Given the description of an element on the screen output the (x, y) to click on. 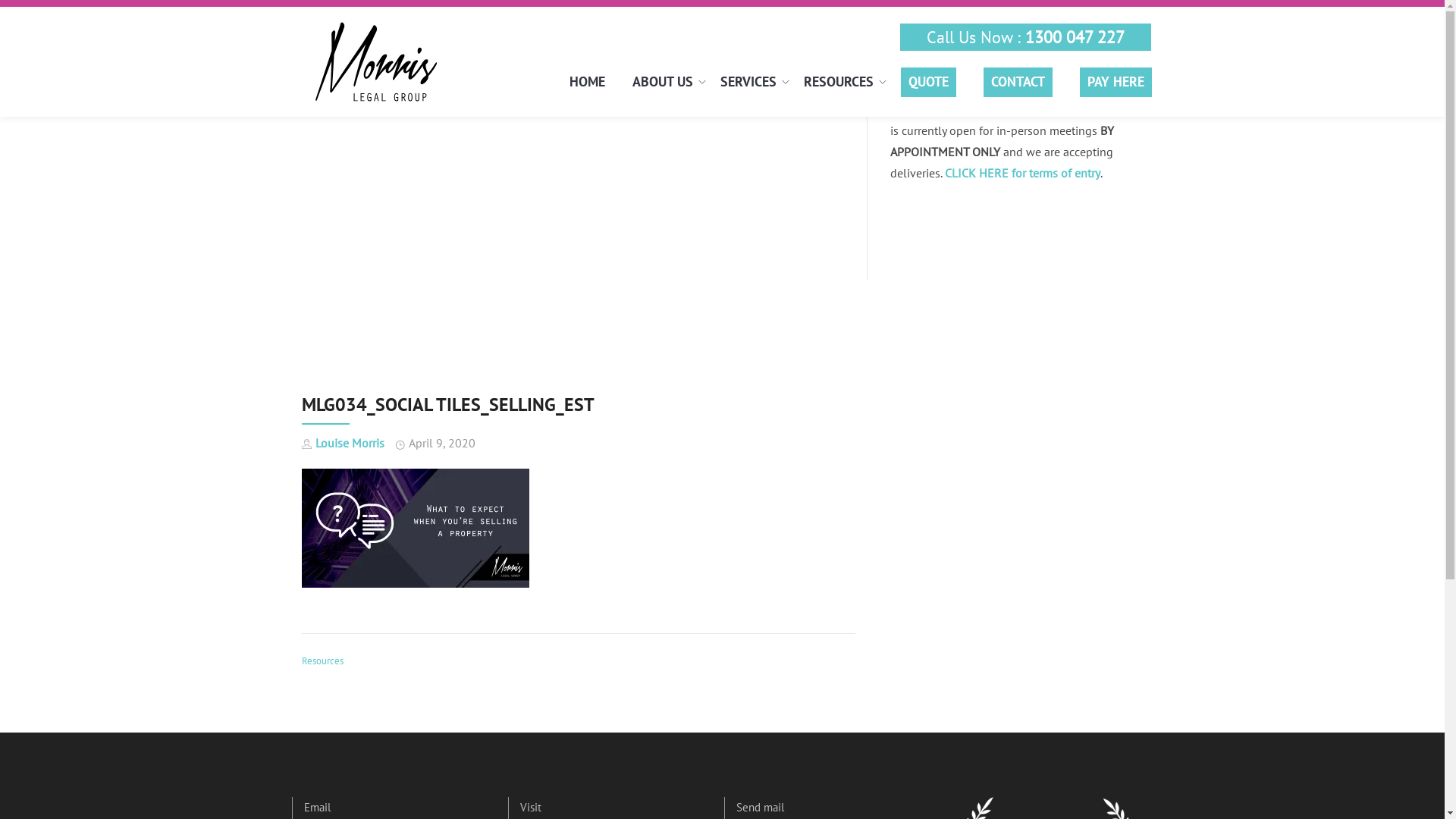
QUOTE Element type: text (928, 86)
RESOURCES Element type: text (838, 81)
Louise Morris Element type: text (349, 442)
CLICK HERE for terms of entry Element type: text (1022, 172)
ABOUT US Element type: text (662, 81)
QUOTE Element type: text (928, 82)
1300 047 227 Element type: text (1074, 36)
PAY HERE Element type: text (1115, 82)
Morris Legal Group Element type: hover (378, 61)
HOME Element type: text (586, 81)
CONTACT Element type: text (1016, 82)
PAY HERE Element type: text (1115, 86)
SERVICES Element type: text (748, 81)
CONTACT Element type: text (1016, 86)
Resources Element type: text (322, 660)
